Given the description of an element on the screen output the (x, y) to click on. 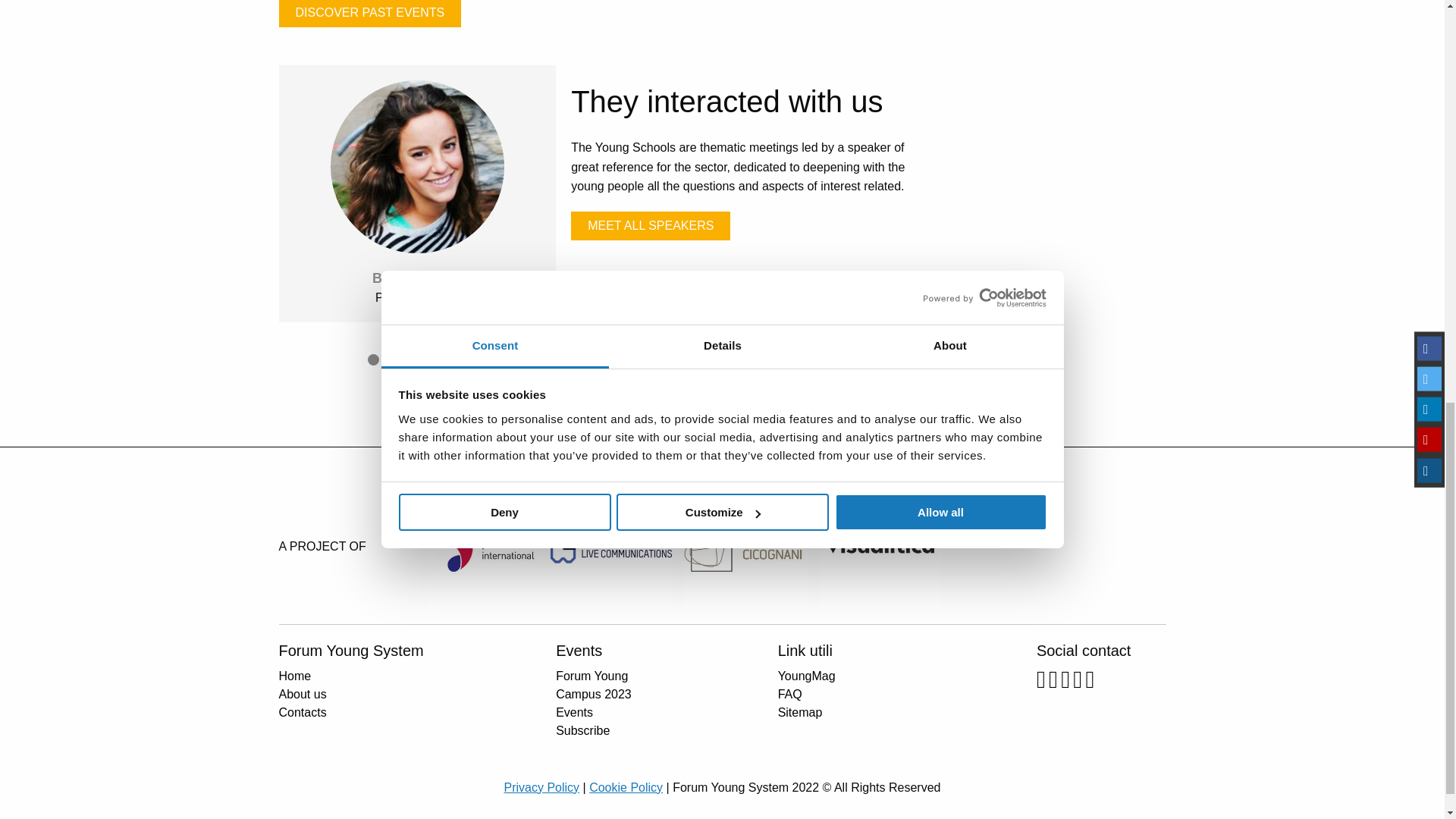
Pleiadi International (487, 545)
Gerebros (611, 545)
Visualitica (880, 545)
Bartoletti Cicognani (745, 545)
